Given the description of an element on the screen output the (x, y) to click on. 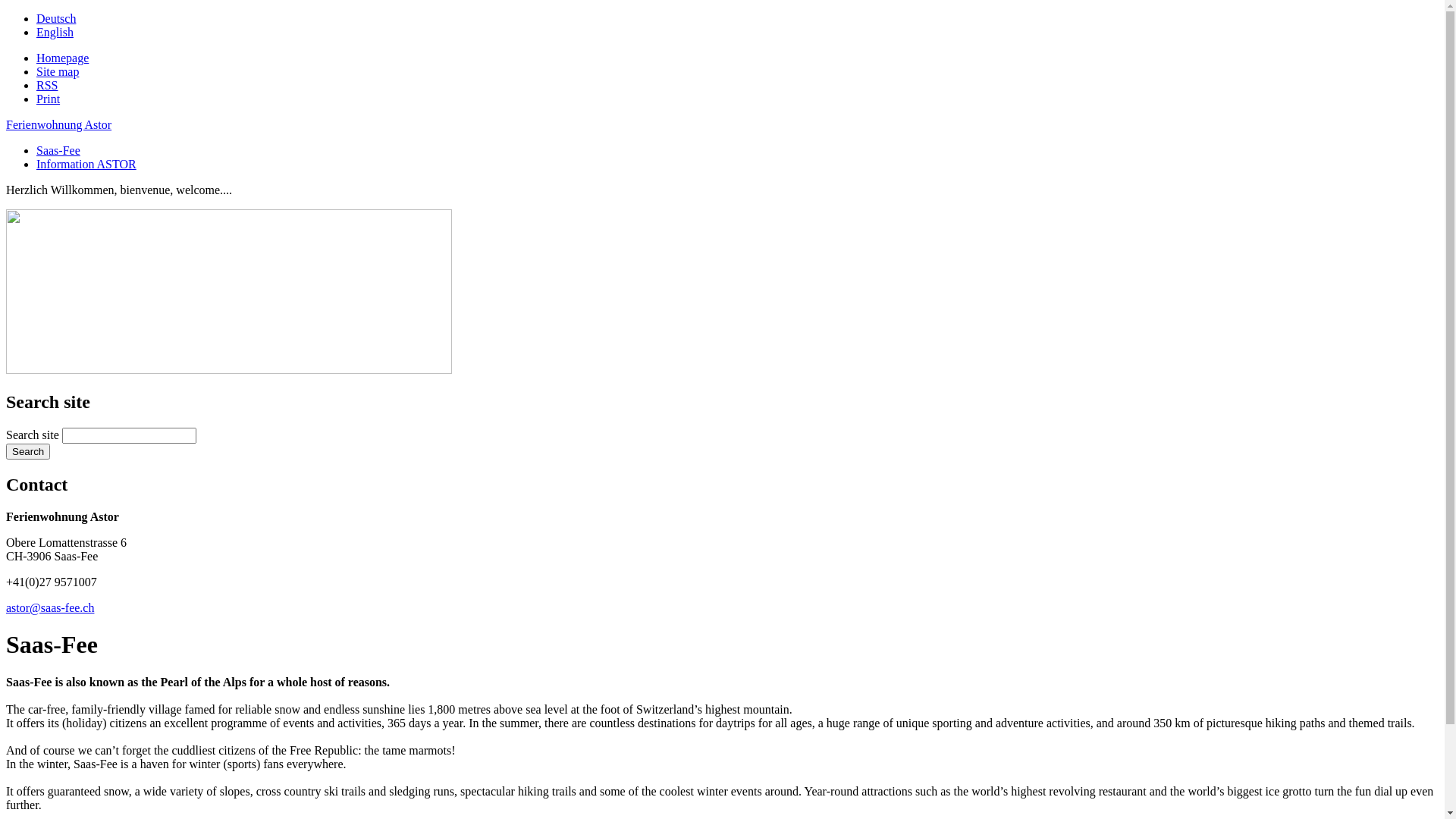
Site map Element type: text (57, 71)
Print Element type: text (47, 98)
Homepage Element type: text (62, 57)
English Element type: text (54, 31)
astor@saas-fee.ch Element type: text (50, 607)
Information ASTOR Element type: text (86, 163)
Deutsch Element type: text (55, 18)
Saas-Fee Element type: text (58, 150)
Ferienwohnung Astor Element type: text (58, 124)
Search Element type: text (28, 451)
RSS Element type: text (46, 84)
